Given the description of an element on the screen output the (x, y) to click on. 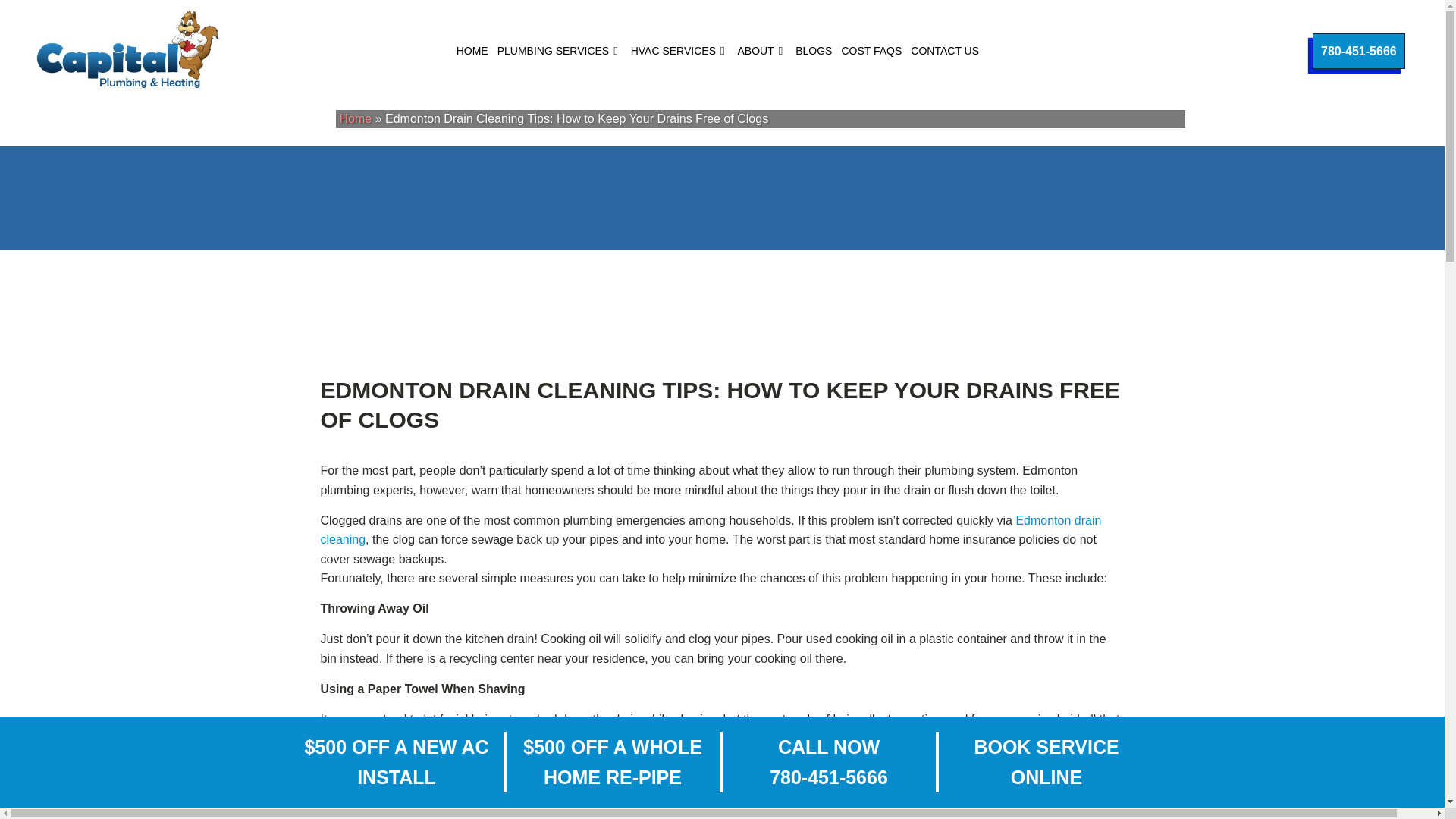
PLUMBING SERVICES (559, 50)
HOME (472, 50)
BLOGS (812, 50)
CONTACT US (944, 50)
ABOUT (761, 50)
COST FAQS (870, 50)
HVAC SERVICES (679, 50)
